Given the description of an element on the screen output the (x, y) to click on. 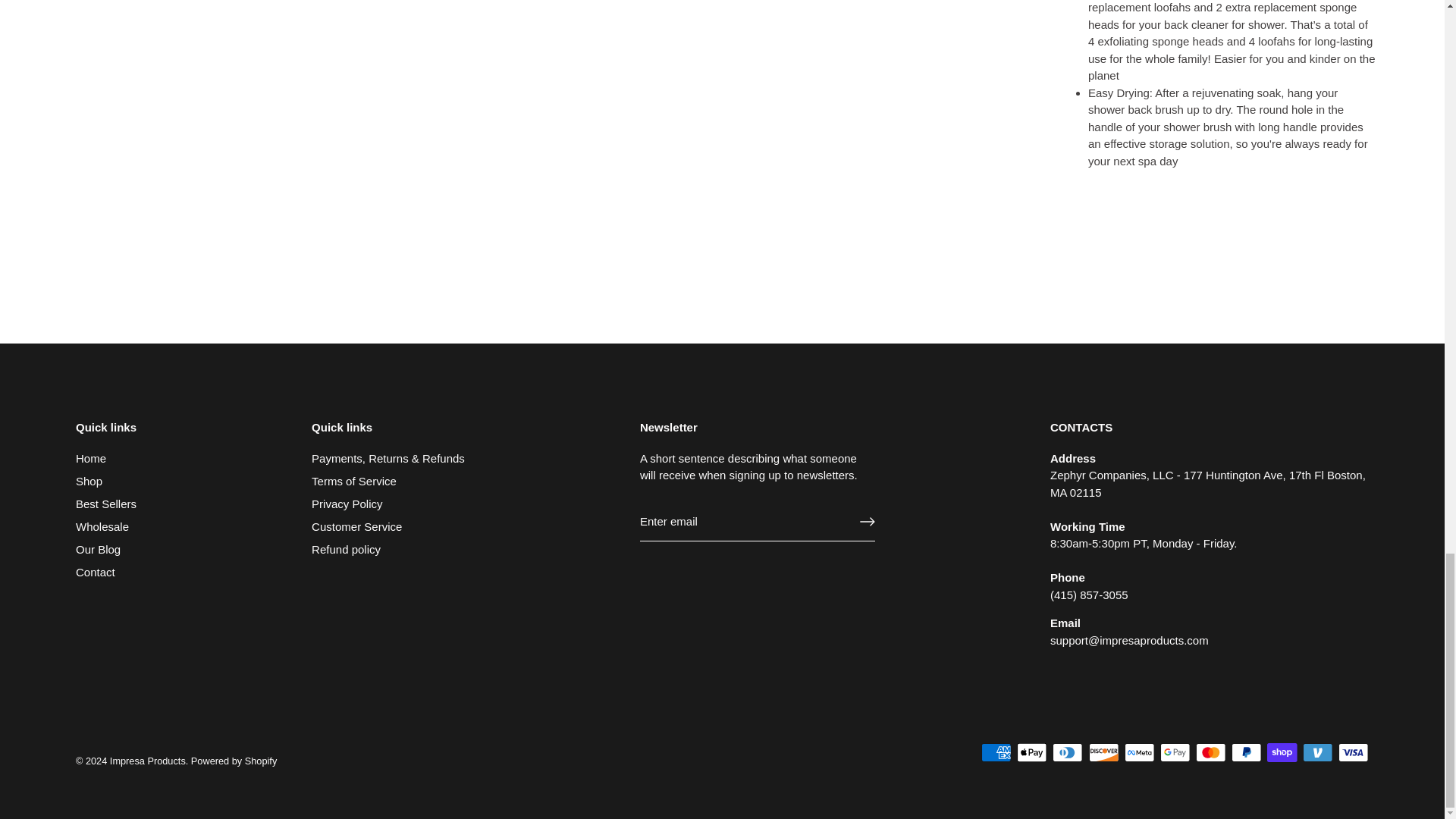
Diners Club (1067, 752)
Mastercard (1210, 752)
Discover (1104, 752)
Visa (1353, 752)
Apple Pay (1031, 752)
American Express (996, 752)
Shop Pay (1281, 752)
Venmo (1317, 752)
RIGHT ARROW LONG (867, 521)
Google Pay (1174, 752)
